Given the description of an element on the screen output the (x, y) to click on. 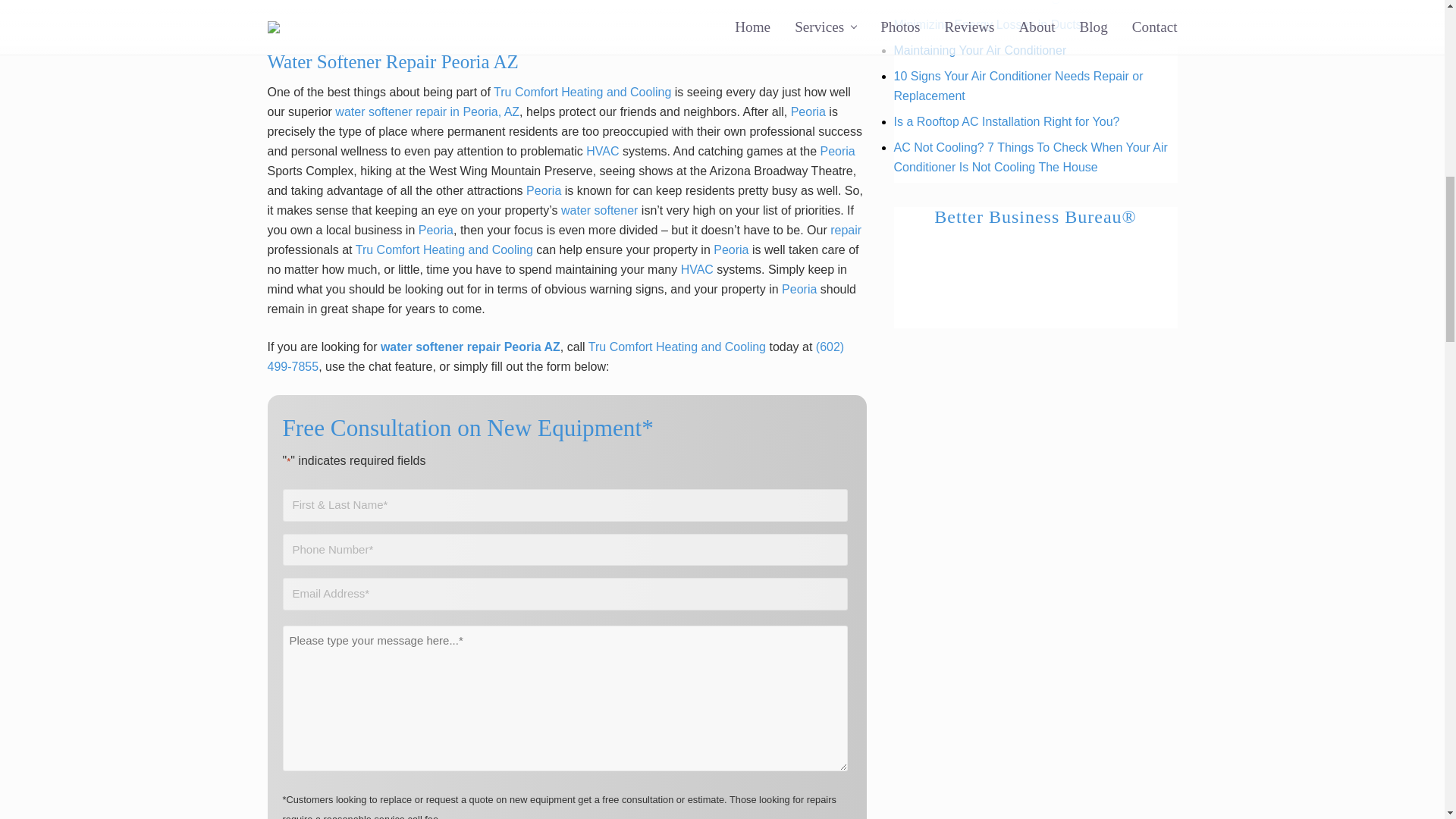
Water Softener Repair Peoria AZ (566, 15)
